Given the description of an element on the screen output the (x, y) to click on. 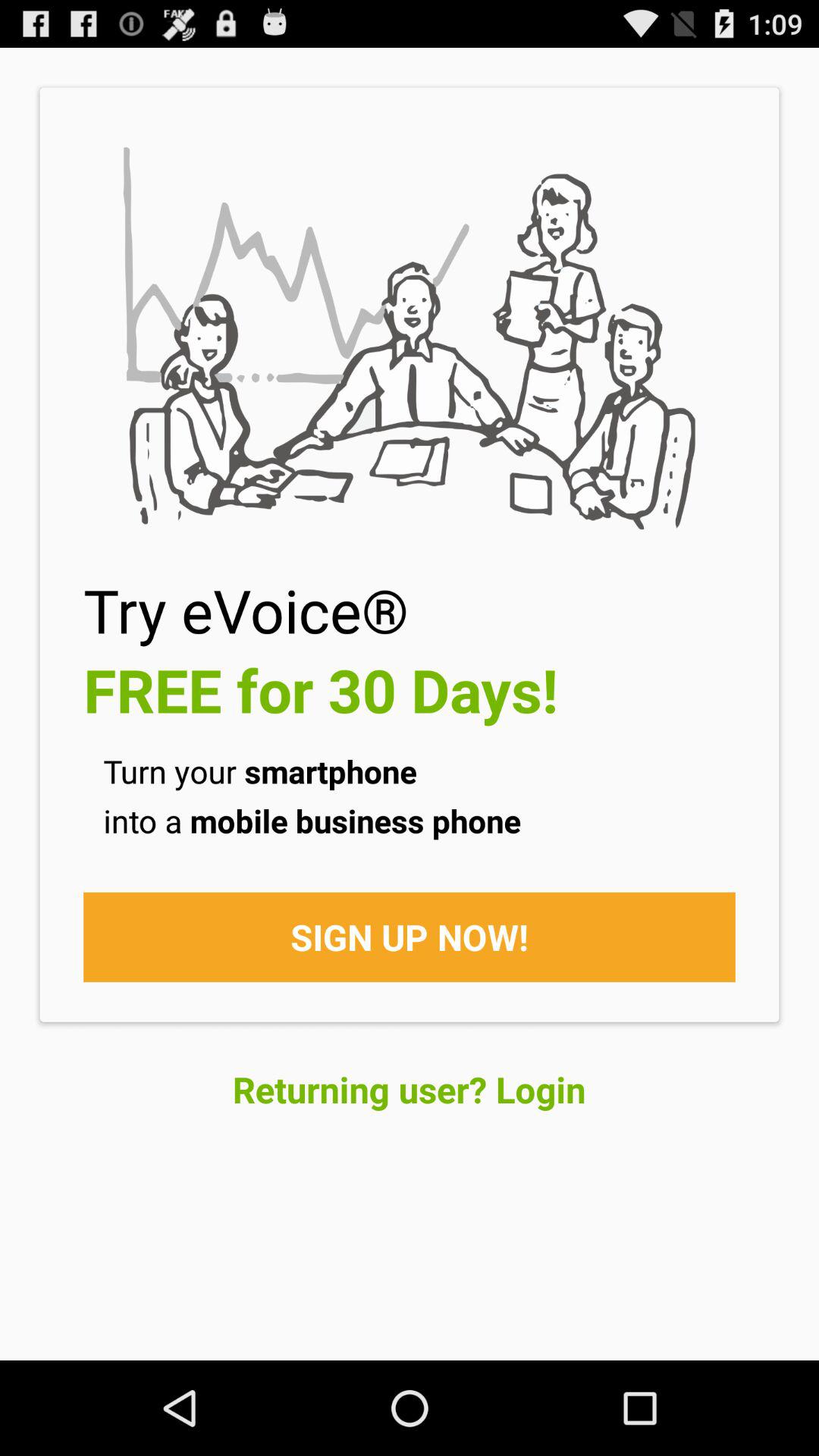
turn off returning user? login button (409, 1089)
